Given the description of an element on the screen output the (x, y) to click on. 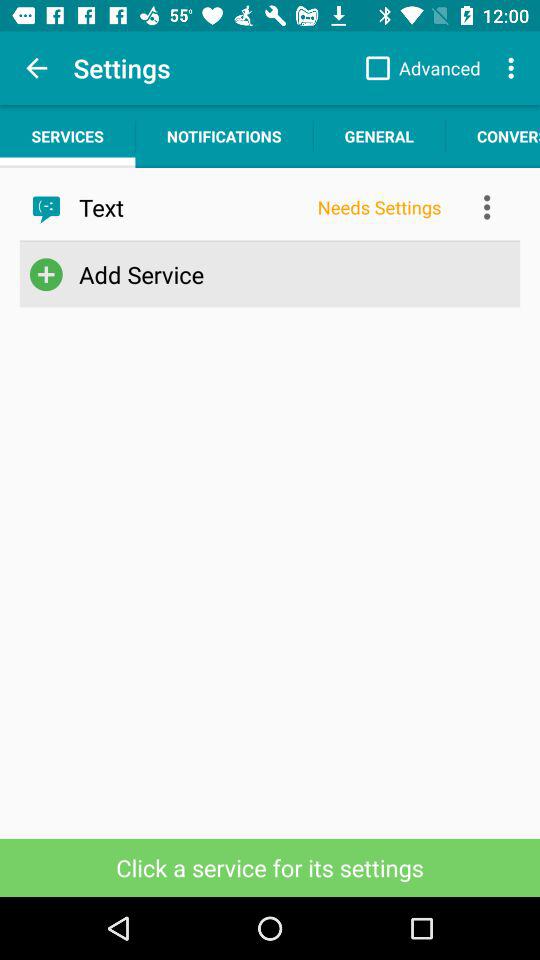
tap the item above the services (36, 68)
